Given the description of an element on the screen output the (x, y) to click on. 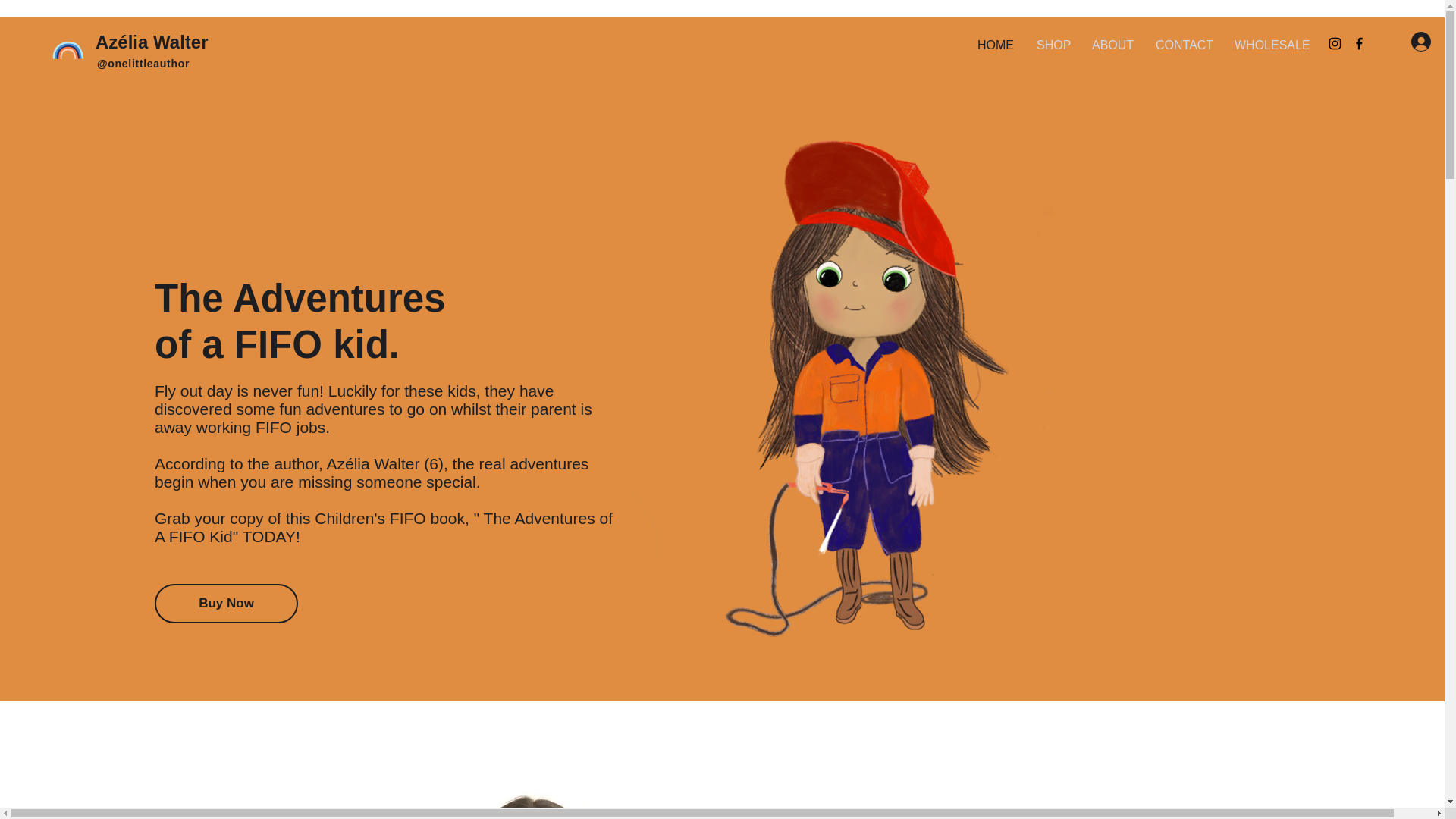
SHOP (1052, 45)
HOME (995, 45)
ABOUT (1112, 45)
Buy Now (226, 603)
CONTACT (1183, 45)
WHOLESALE (1269, 45)
